Given the description of an element on the screen output the (x, y) to click on. 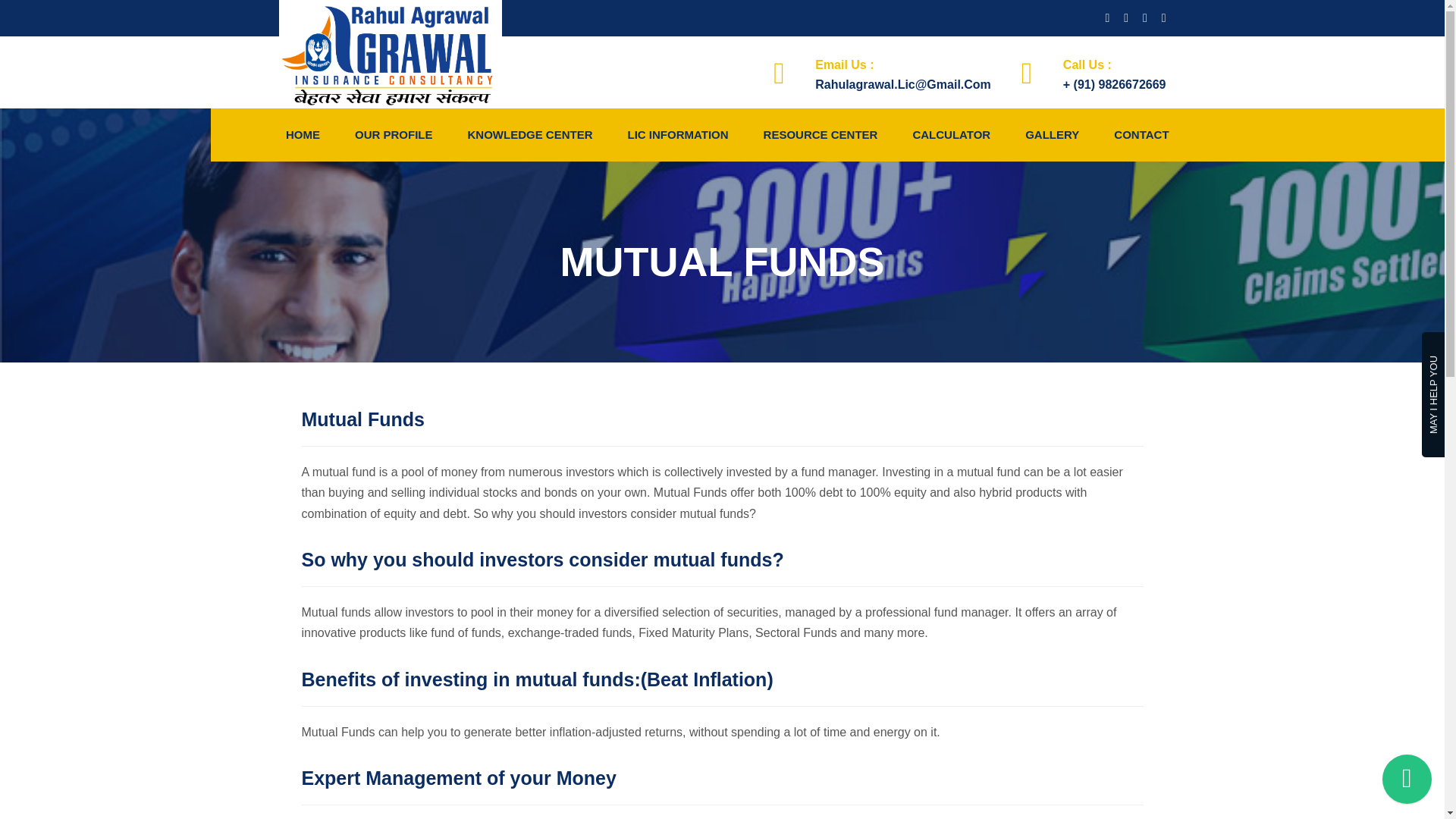
RESOURCE CENTER (820, 134)
LIC INFORMATION (678, 134)
GALLERY (1051, 134)
KNOWLEDGE CENTER (529, 134)
CALCULATOR (950, 134)
CONTACT (1138, 134)
OUR PROFILE (394, 134)
